Given the description of an element on the screen output the (x, y) to click on. 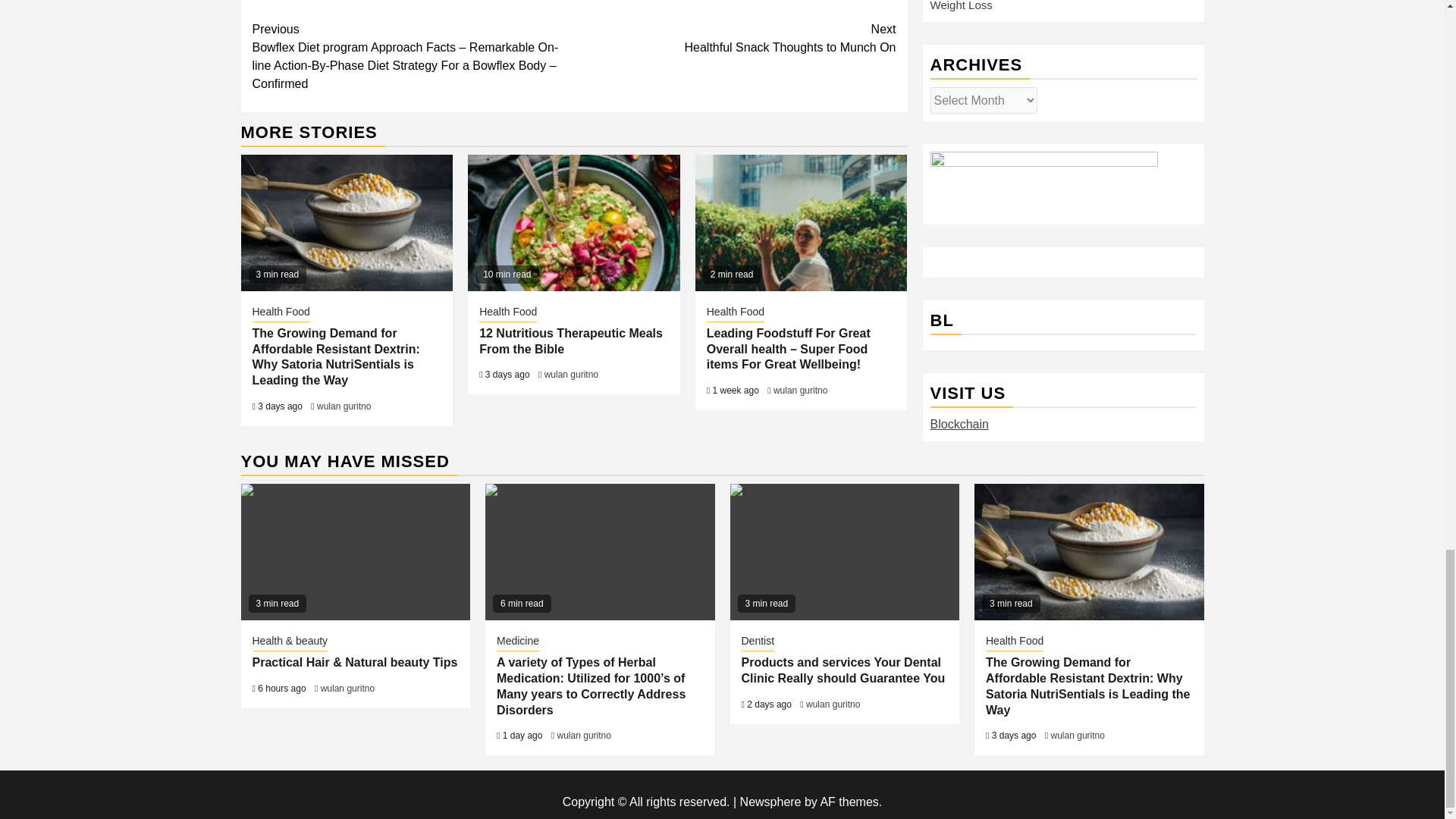
Health Food (279, 312)
wulan guritno (344, 406)
12 Nutritious Therapeutic Meals From the Bible (573, 222)
wulan guritno (734, 38)
12 Nutritious Therapeutic Meals From the Bible (800, 389)
